Given the description of an element on the screen output the (x, y) to click on. 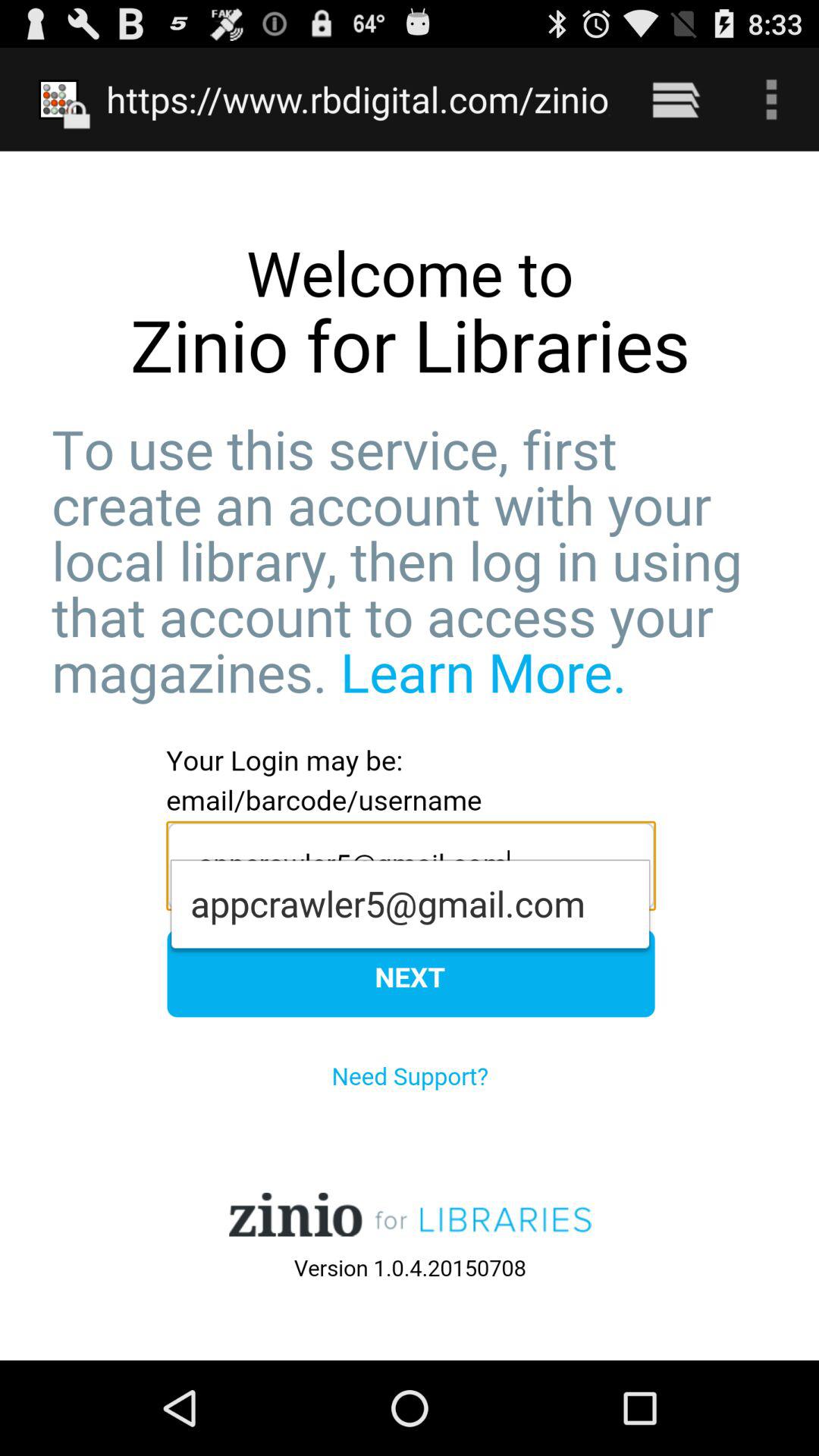
jump to the https www rbdigital item (357, 99)
